Given the description of an element on the screen output the (x, y) to click on. 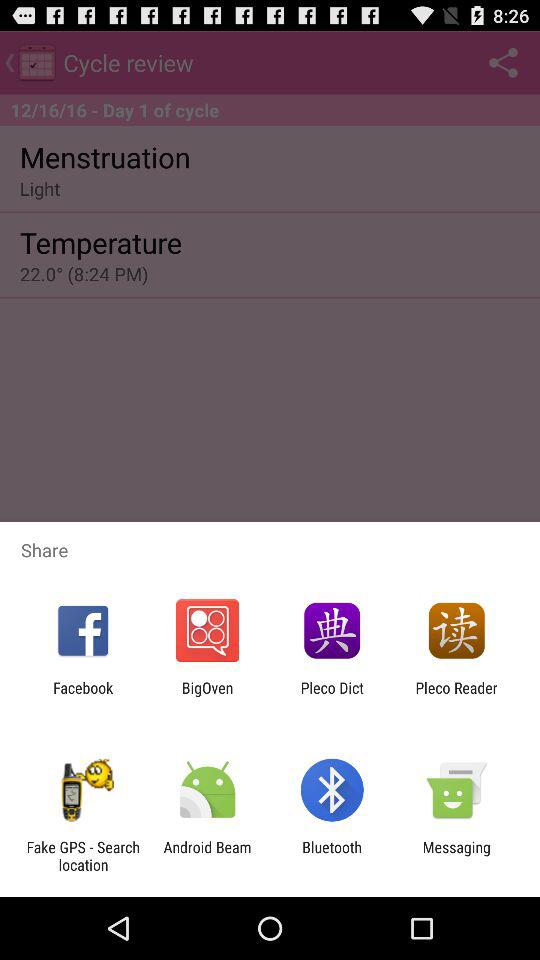
turn on the icon to the right of the pleco dict app (456, 696)
